Given the description of an element on the screen output the (x, y) to click on. 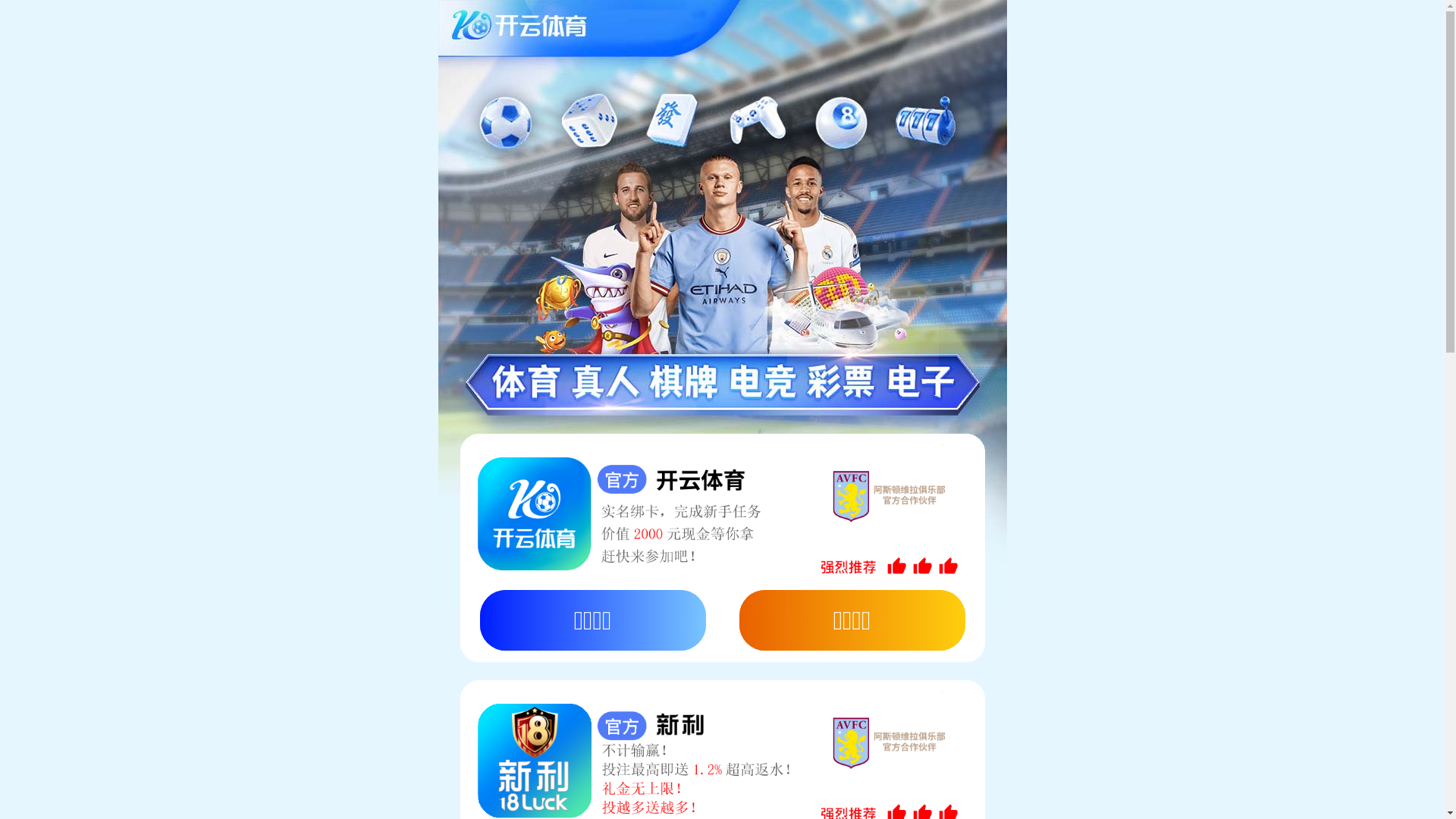
English Element type: text (1286, 19)
